Given the description of an element on the screen output the (x, y) to click on. 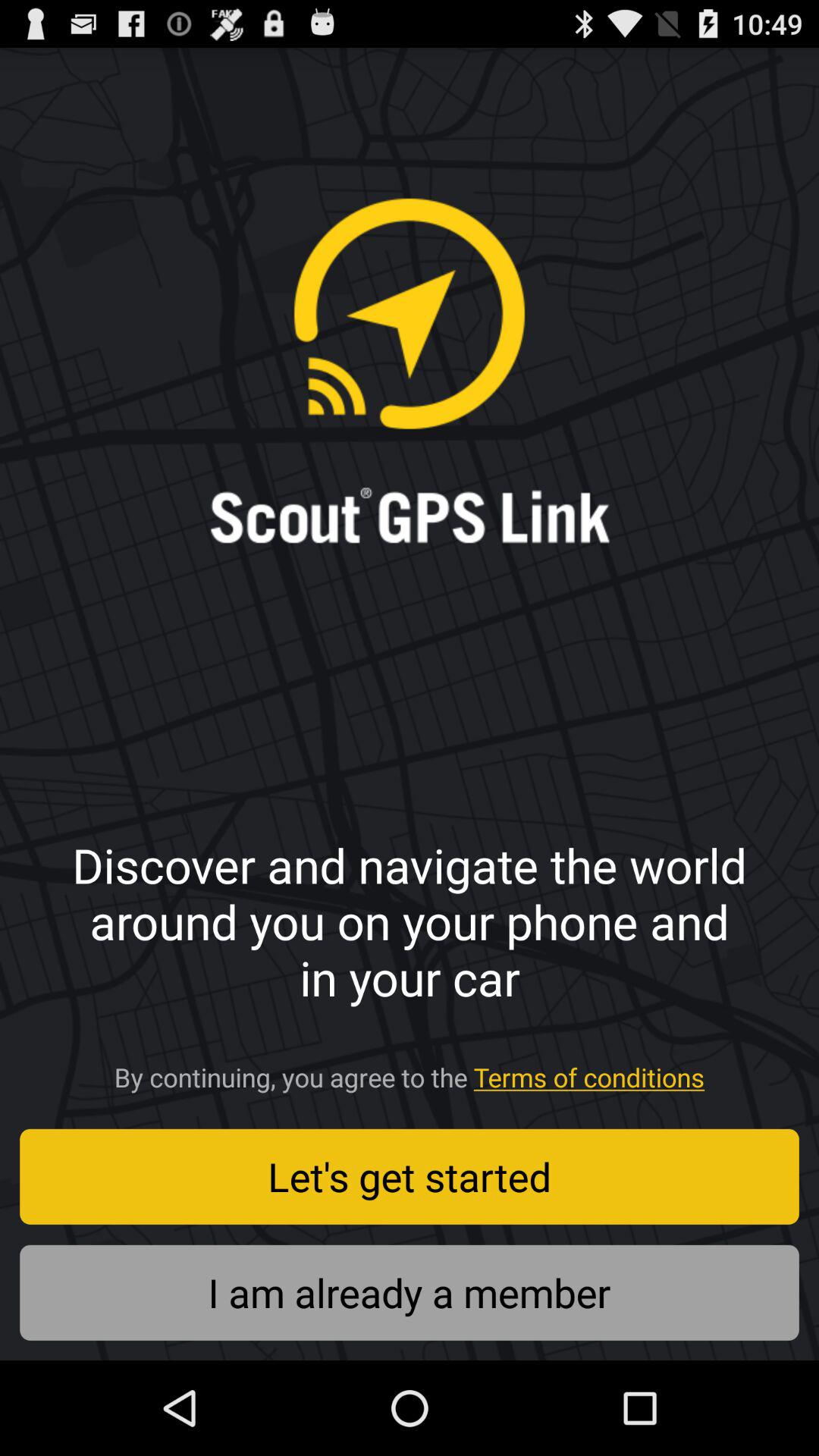
tap the item below the discover and navigate item (409, 1072)
